Given the description of an element on the screen output the (x, y) to click on. 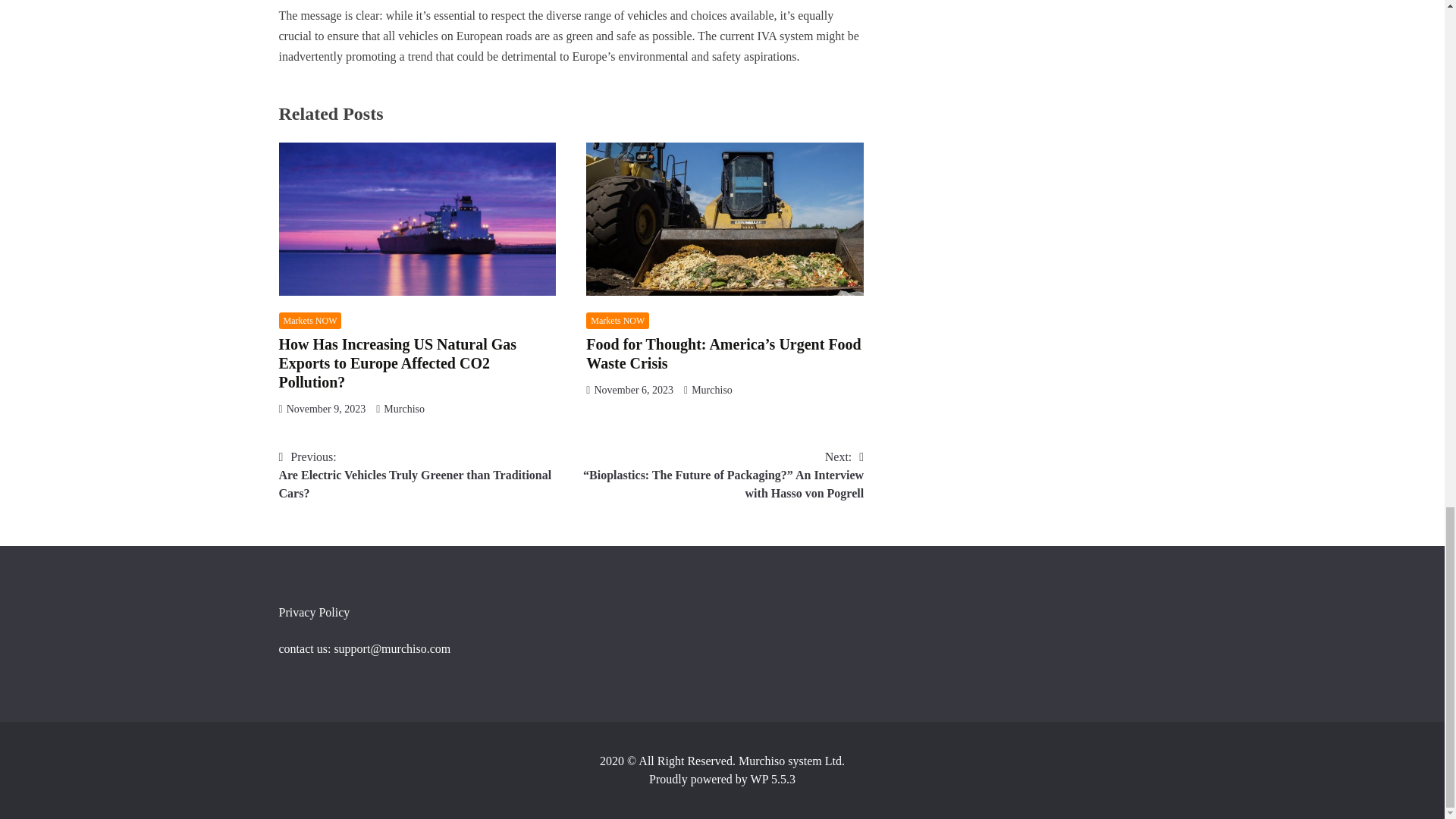
Markets NOW (310, 321)
November 9, 2023 (326, 408)
November 6, 2023 (633, 389)
Markets NOW (617, 321)
Murchiso (404, 408)
Murchiso (711, 389)
Privacy Policy (314, 612)
